Given the description of an element on the screen output the (x, y) to click on. 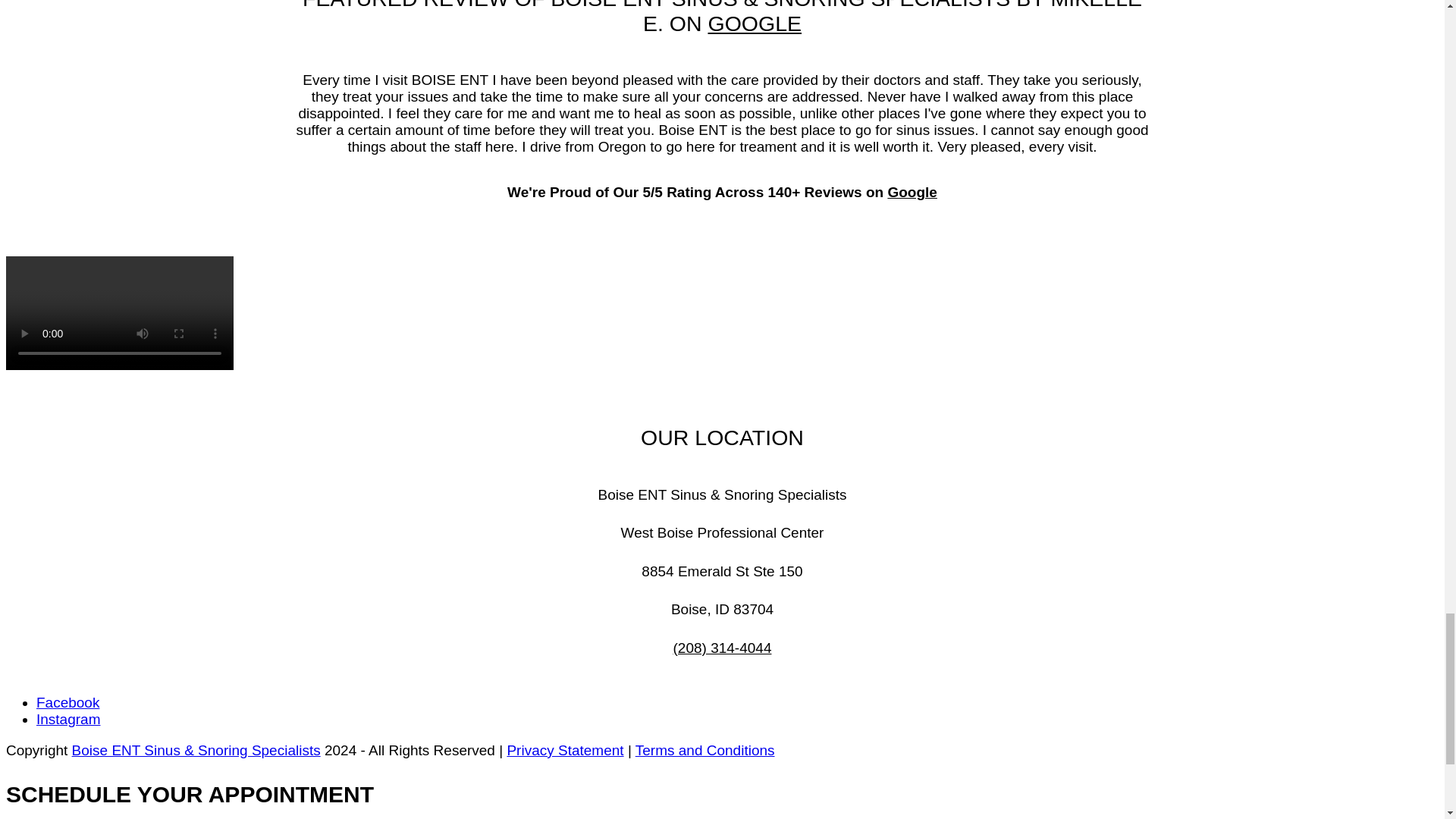
Facebook (67, 702)
Instagram (68, 719)
